Given the description of an element on the screen output the (x, y) to click on. 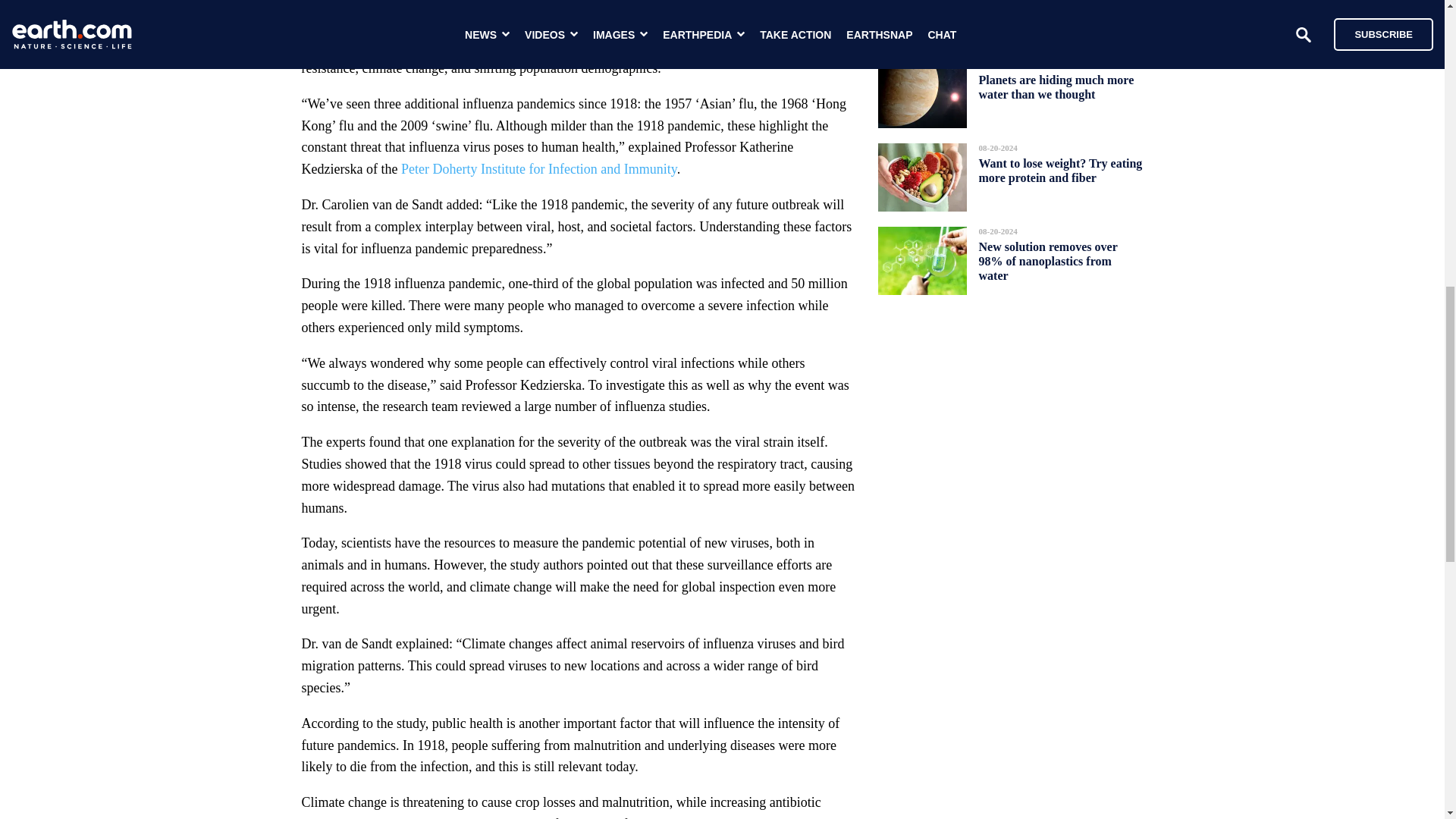
Peter Doherty Institute for Infection and Immunity (539, 168)
Want to lose weight? Try eating more protein and fiber (1059, 170)
virus (635, 46)
Planets are hiding much more water than we thought (1056, 87)
Protein that halts DNA damage may lead to cancer vaccines (1059, 12)
